Given the description of an element on the screen output the (x, y) to click on. 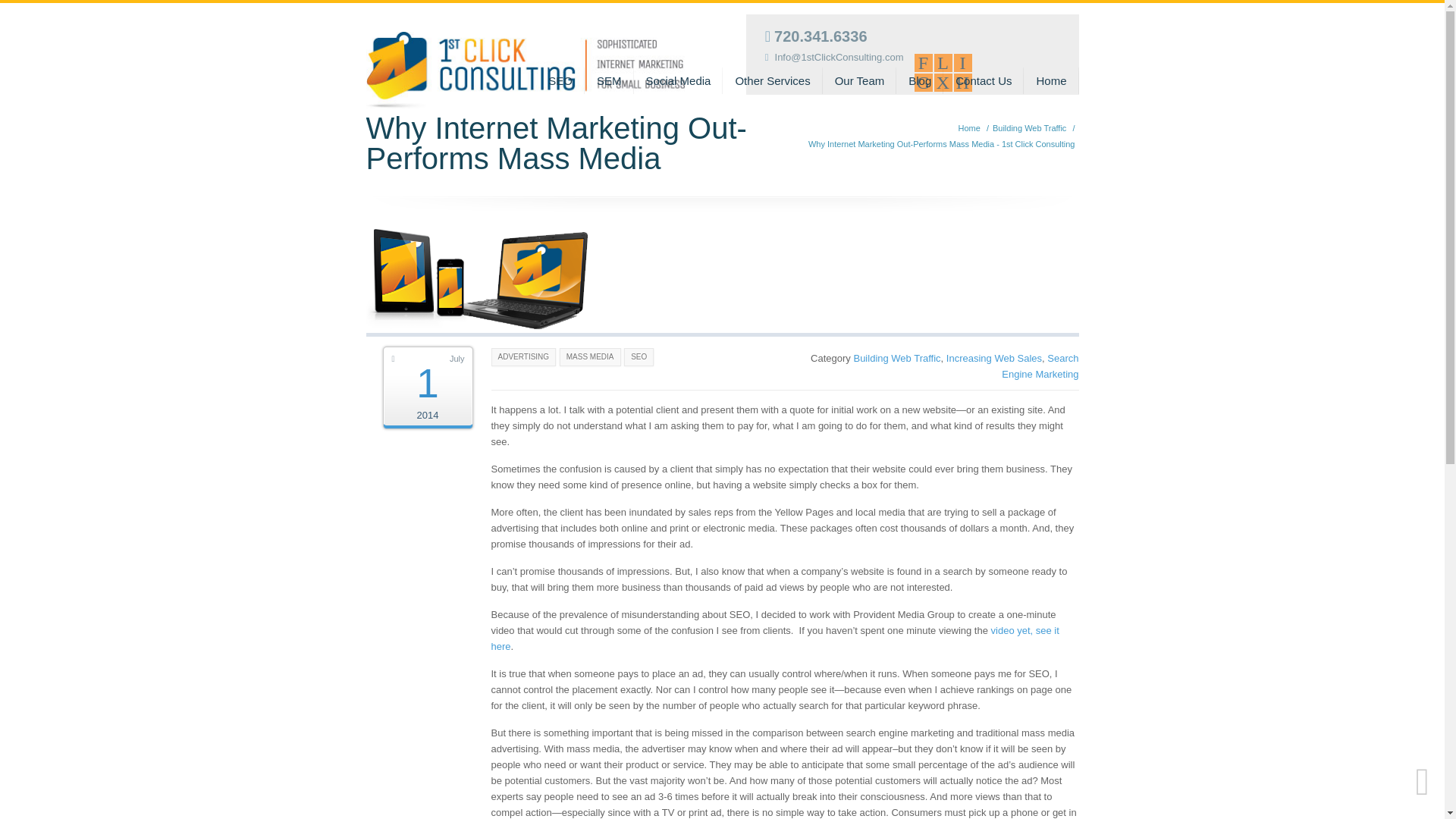
Twitter (943, 63)
Skype (962, 82)
Our Team (859, 80)
G (923, 82)
Blog (919, 80)
SEM (609, 80)
FAQ (775, 637)
Home (968, 127)
X (943, 82)
L (943, 63)
SEO (560, 80)
H (962, 82)
YouTube (943, 82)
Social Media (678, 80)
F (923, 63)
